Given the description of an element on the screen output the (x, y) to click on. 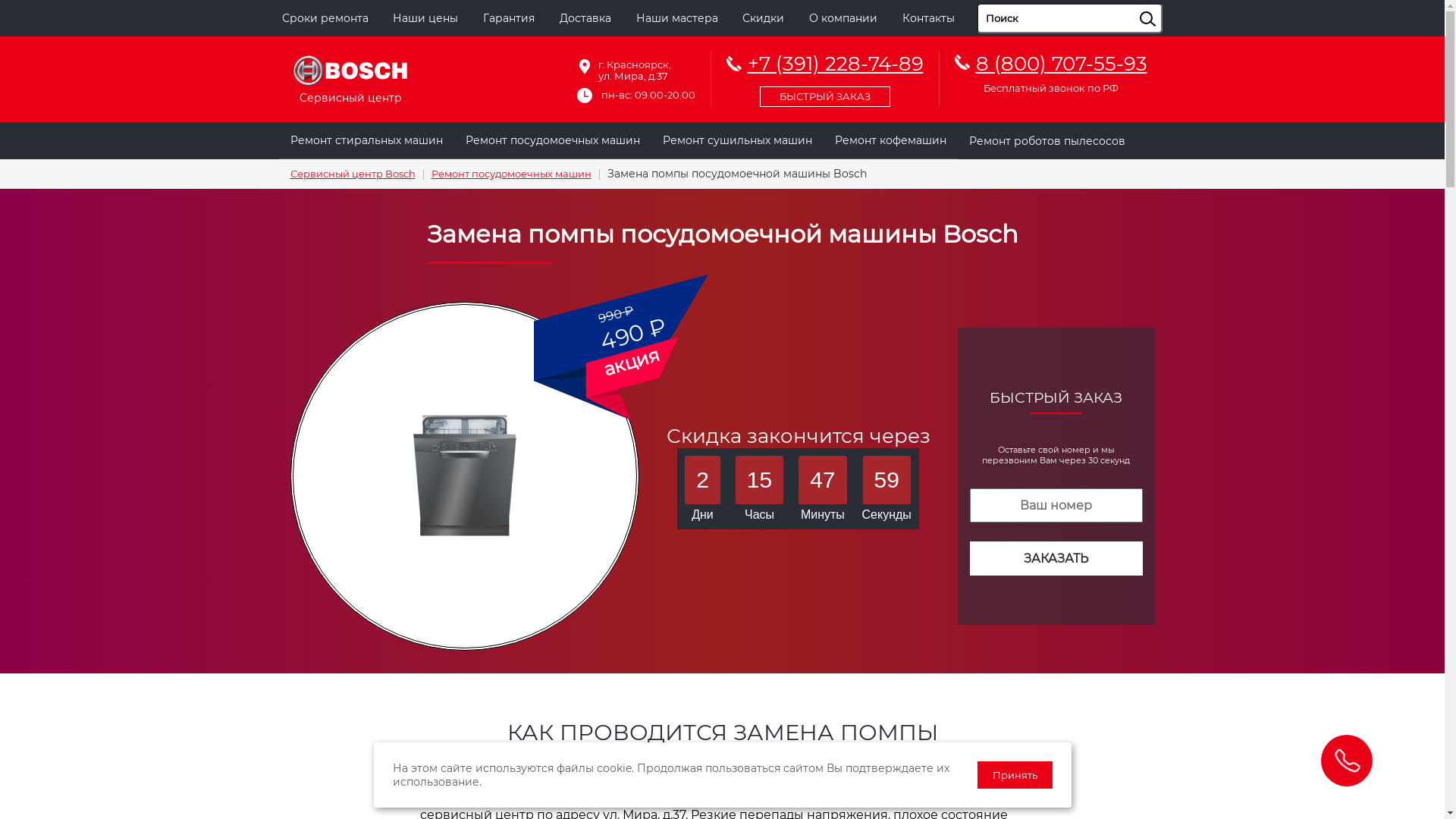
8 (800) 707-55-93 Element type: text (1060, 63)
sisea.search Element type: text (1165, 3)
+7 (391) 228-74-89 Element type: text (824, 77)
